Given the description of an element on the screen output the (x, y) to click on. 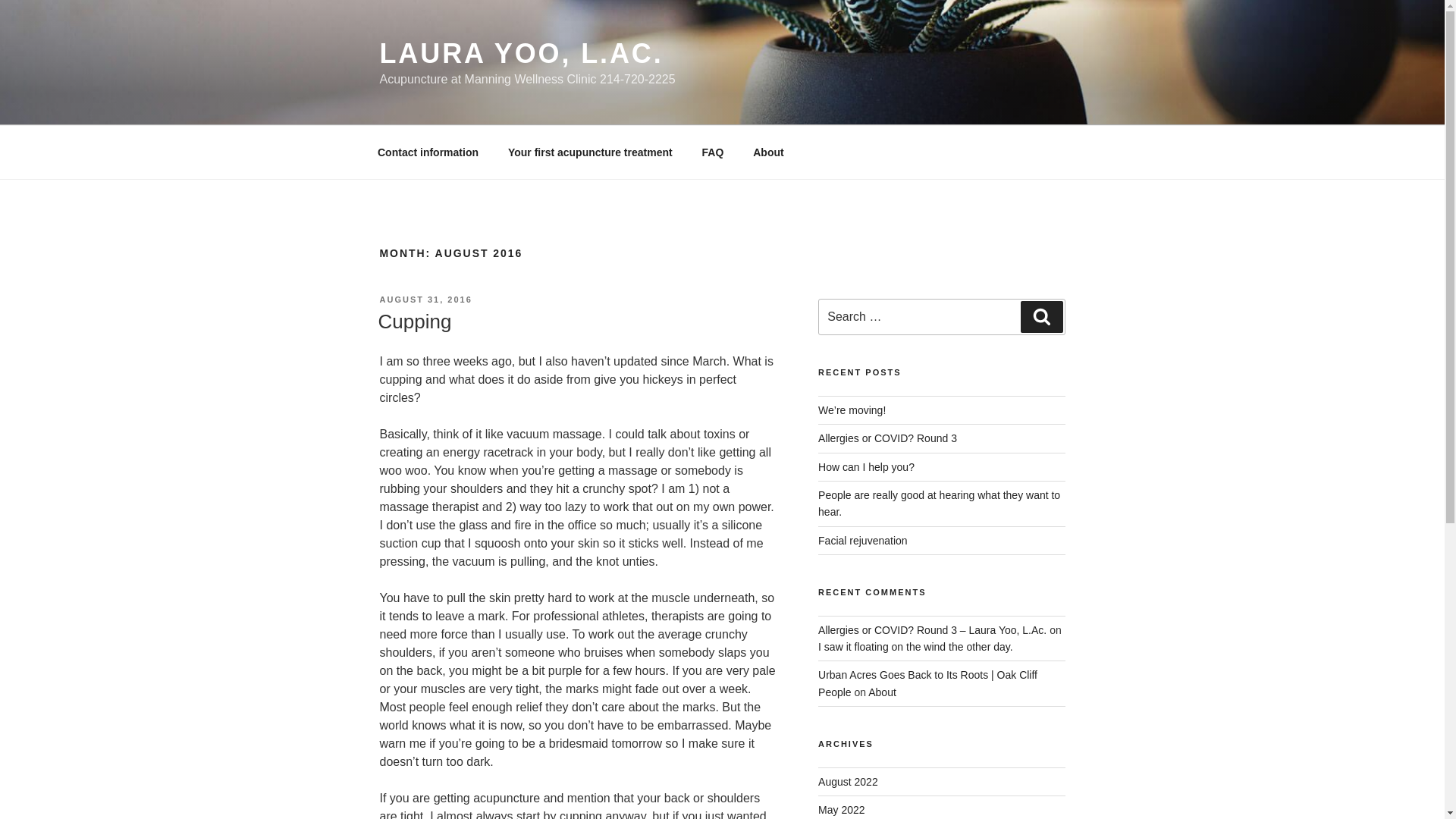
Contact information (428, 151)
People are really good at hearing what they want to hear. (938, 502)
About (767, 151)
Allergies or COVID? Round 3 (887, 438)
AUGUST 31, 2016 (424, 298)
Cupping (414, 321)
August 2022 (847, 781)
May 2022 (841, 809)
Search (1041, 316)
FAQ (712, 151)
About (881, 692)
I saw it floating on the wind the other day. (915, 646)
How can I help you? (866, 467)
Your first acupuncture treatment (590, 151)
Facial rejuvenation (862, 540)
